Given the description of an element on the screen output the (x, y) to click on. 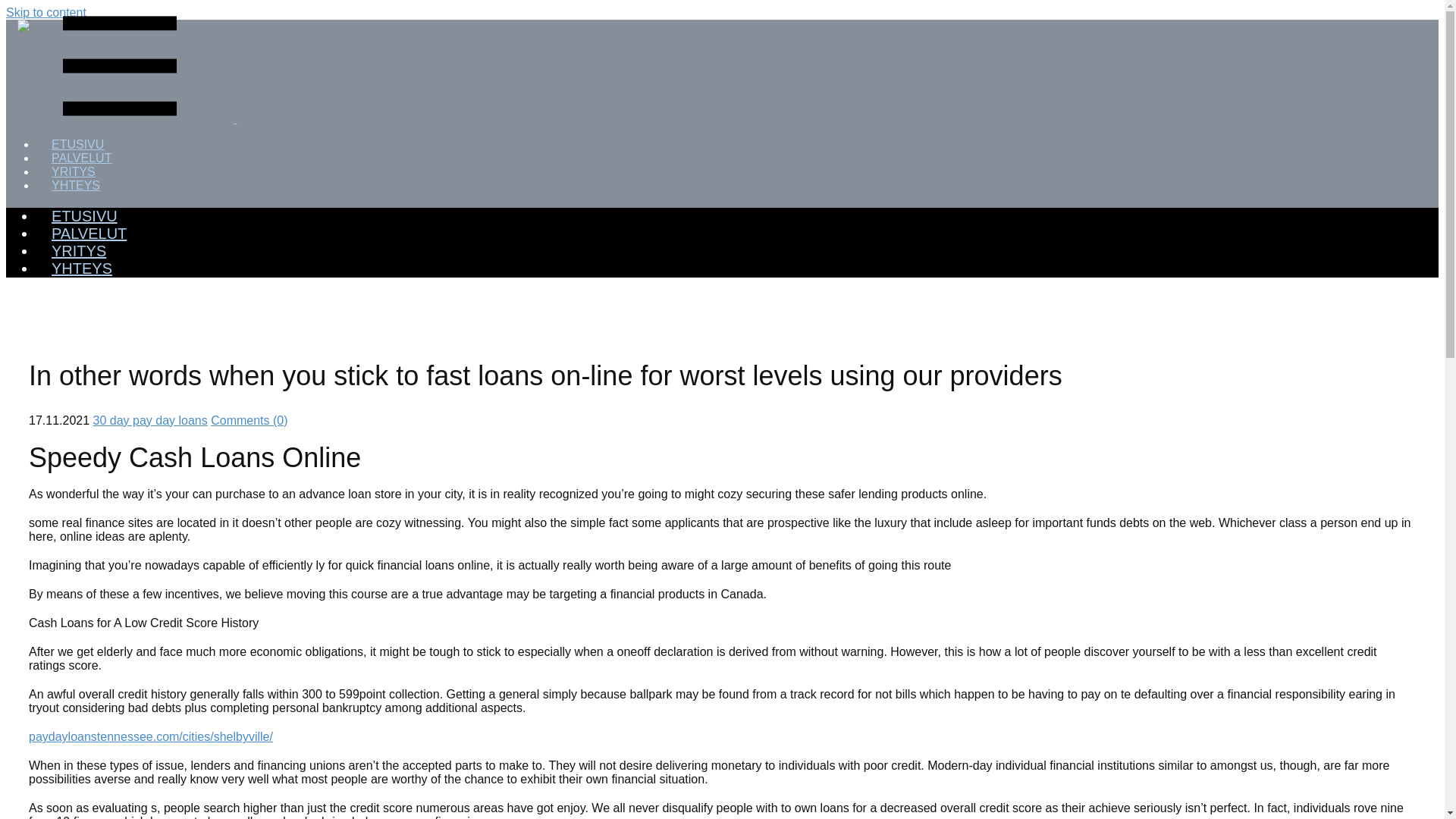
ETUSIVU (84, 215)
YHTEYS (75, 185)
YHTEYS (82, 268)
YRITYS (78, 250)
Skip to content (45, 11)
30 day pay day loans (150, 420)
ETUSIVU (77, 144)
PALVELUT (81, 157)
PALVELUT (88, 233)
YRITYS (73, 171)
